Given the description of an element on the screen output the (x, y) to click on. 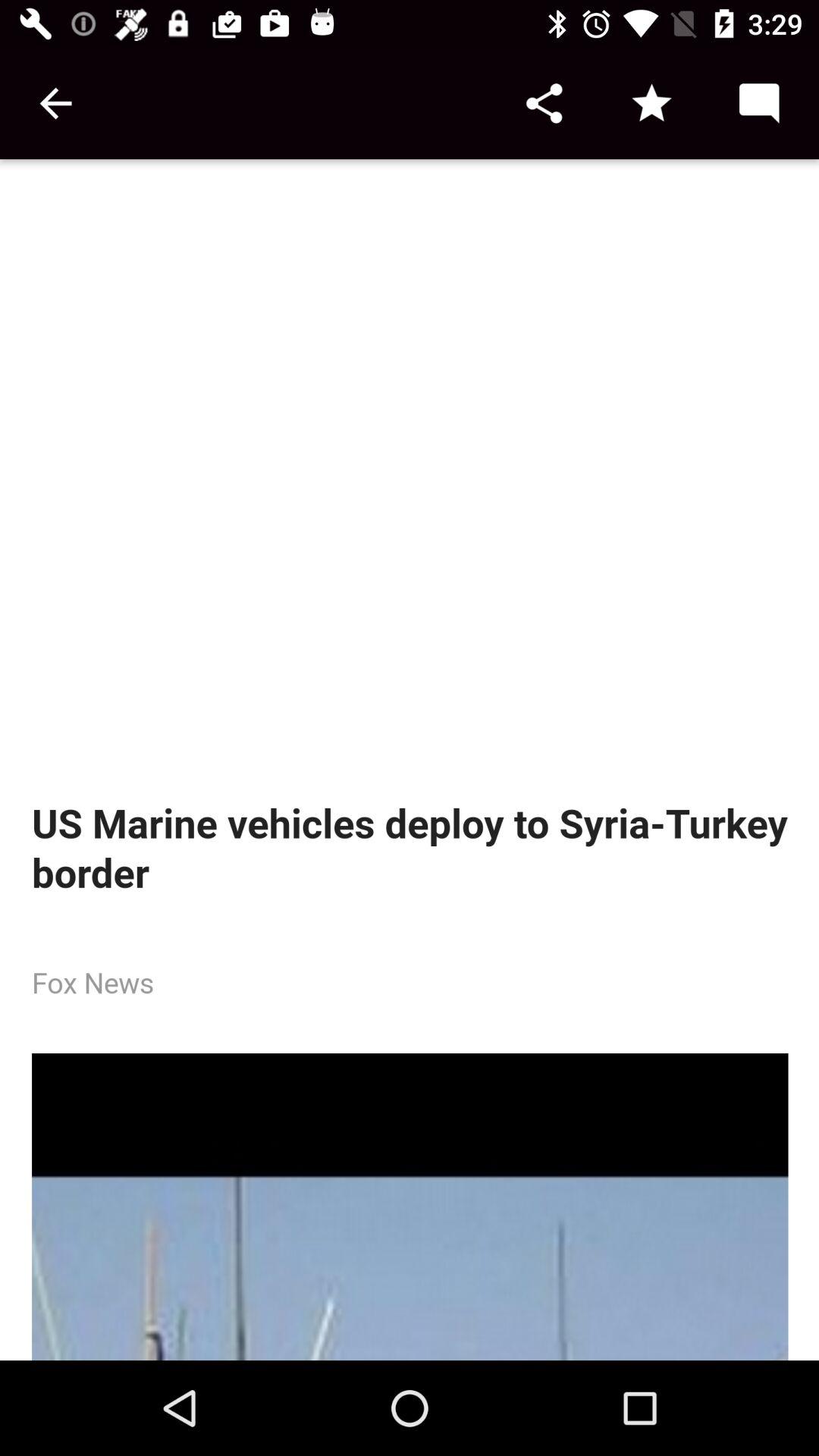
go to share option (543, 103)
